Given the description of an element on the screen output the (x, y) to click on. 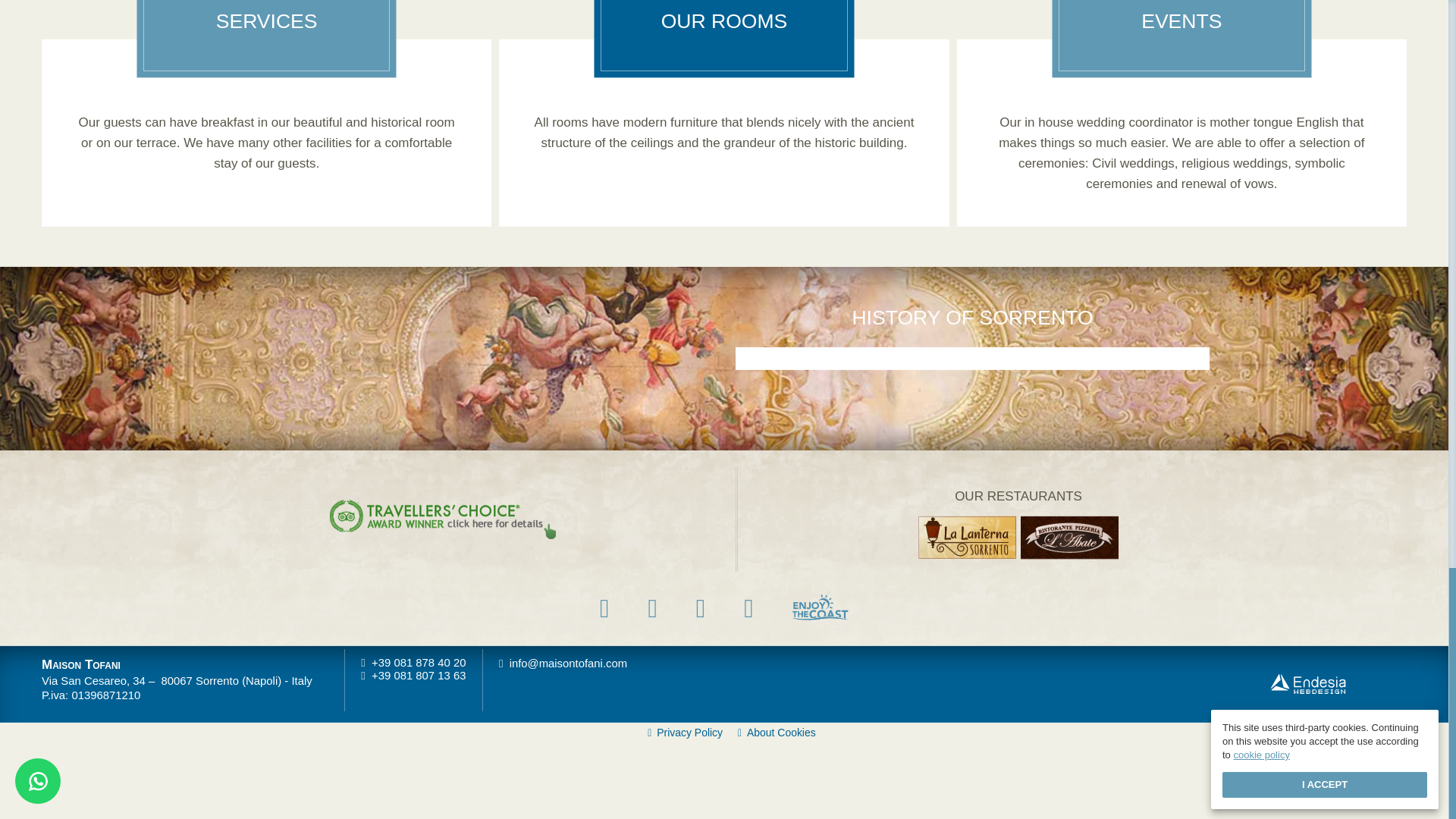
EVENTS (1182, 36)
Ristorante La Lanterna (966, 536)
Signaled on Enjoy the Coast (820, 606)
About Cookies (776, 733)
OUR ROOMS (723, 36)
facebook (603, 608)
Privacy Policy (684, 733)
Webagency Napoli e Sorrento - Endesia (1307, 683)
Maison Tofani (81, 664)
SERVICES (266, 36)
Ristorante Pizzeria L'abate (1069, 536)
twitter (652, 608)
instagram (700, 608)
tripadvisor (749, 608)
